Given the description of an element on the screen output the (x, y) to click on. 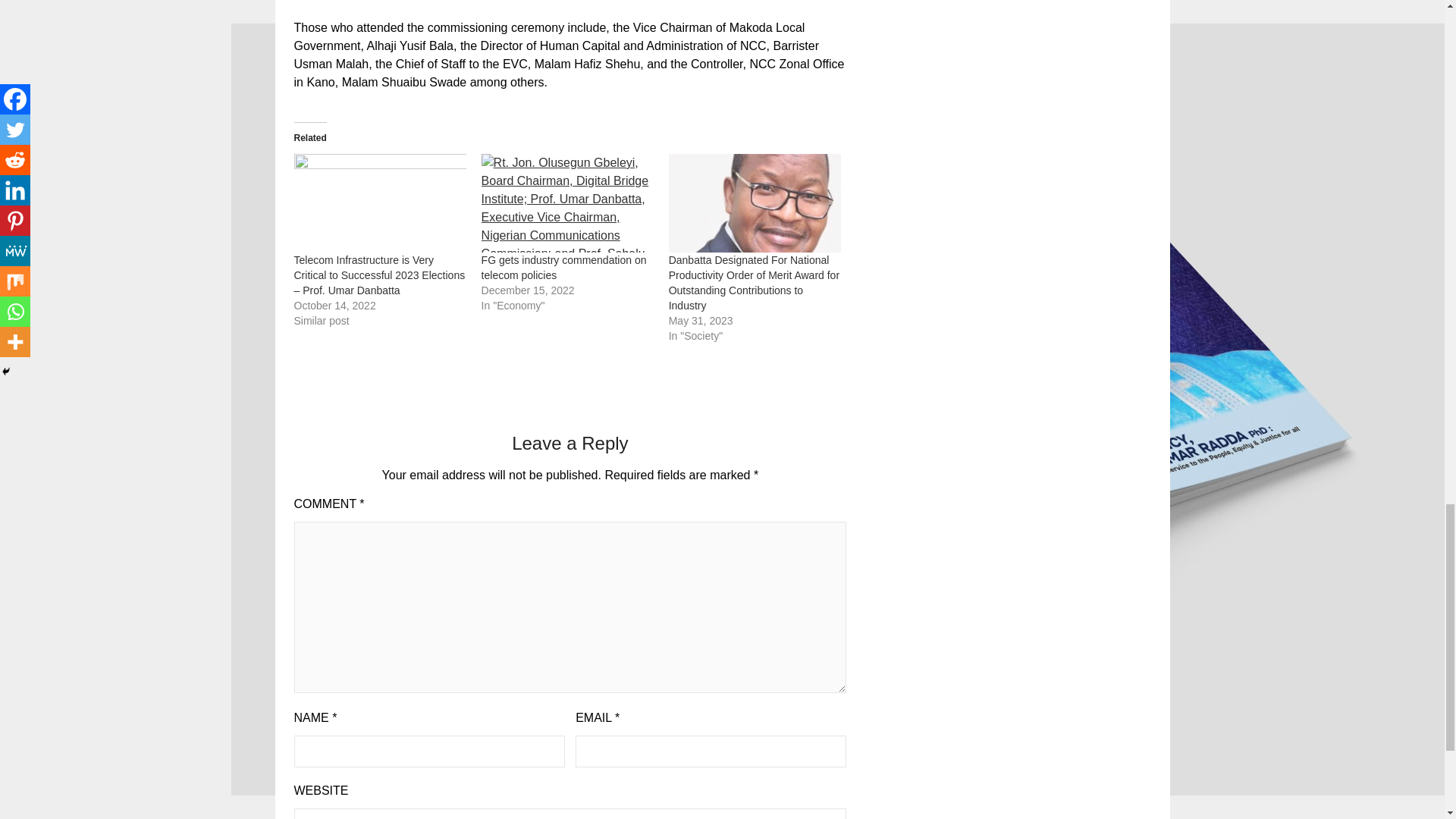
FG gets industry commendation on telecom policies (563, 267)
FG gets industry commendation on telecom policies (567, 202)
FG gets industry commendation on telecom policies (563, 267)
